Given the description of an element on the screen output the (x, y) to click on. 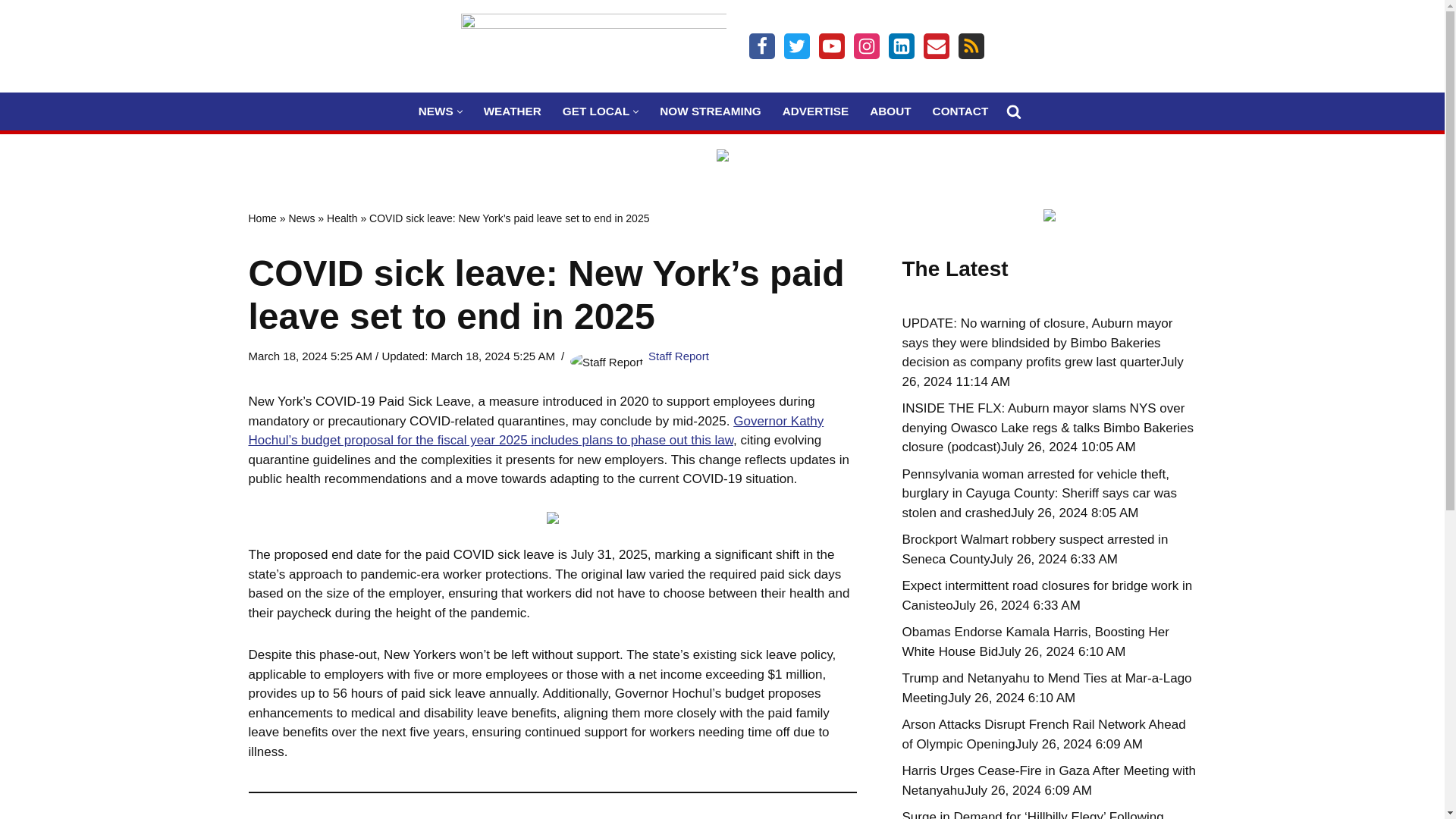
Facebook (761, 45)
Email Us (936, 45)
CONTACT (960, 111)
Skip to content (11, 31)
NEWS (435, 111)
LinkIn (901, 45)
NOW STREAMING (709, 111)
ABOUT (890, 111)
Twitter (796, 45)
Posts by Staff Report (678, 355)
Instagram (866, 45)
GET LOCAL (595, 111)
Youtube (831, 45)
ADVERTISE (815, 111)
Feed (971, 45)
